Given the description of an element on the screen output the (x, y) to click on. 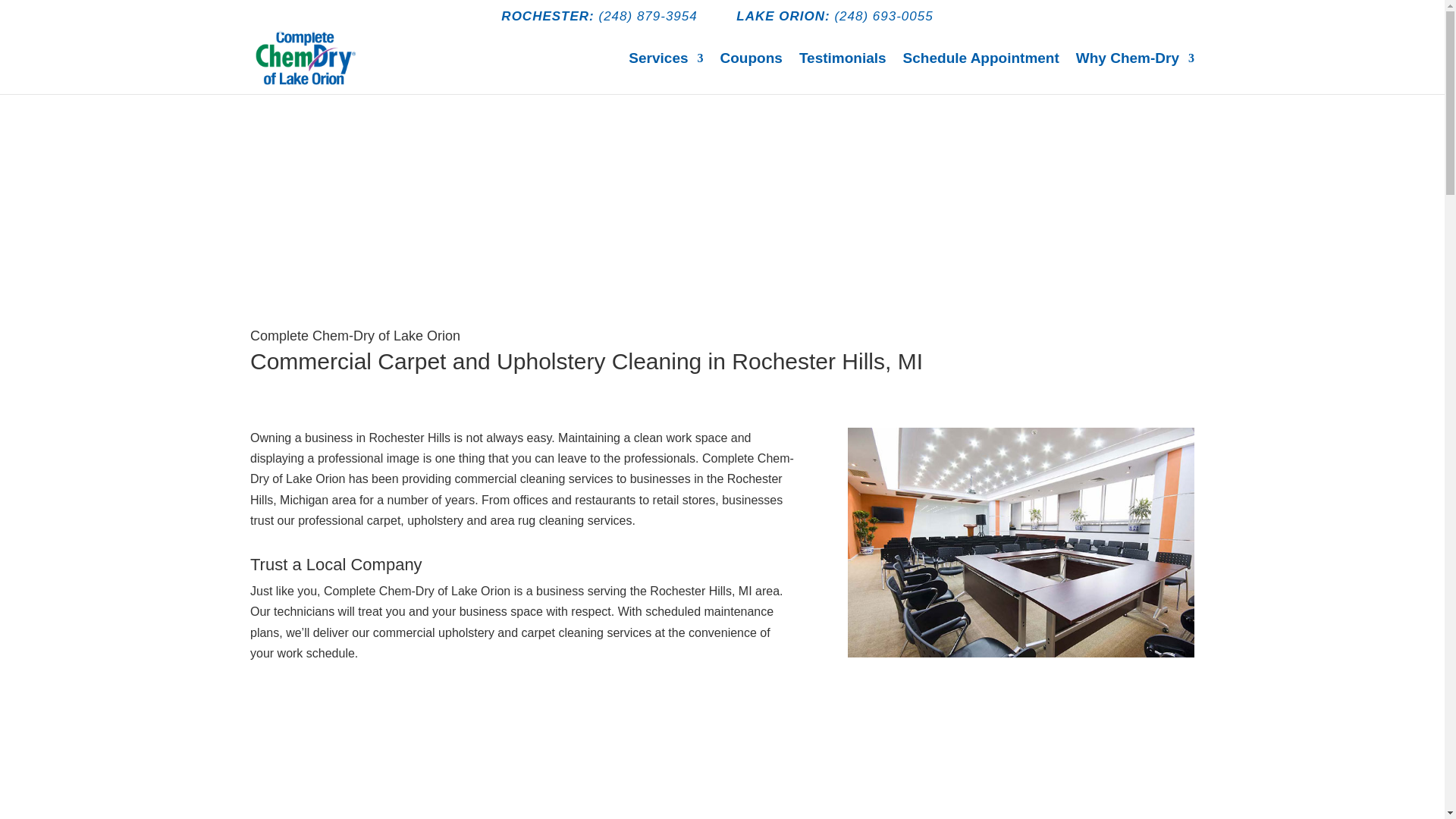
Why Chem-Dry (1134, 73)
Cleaning Services (665, 73)
Services (665, 73)
Testimonials (842, 73)
Schedule Appointment (980, 73)
Coupons (751, 73)
Schedule Appointment (342, 193)
